Given the description of an element on the screen output the (x, y) to click on. 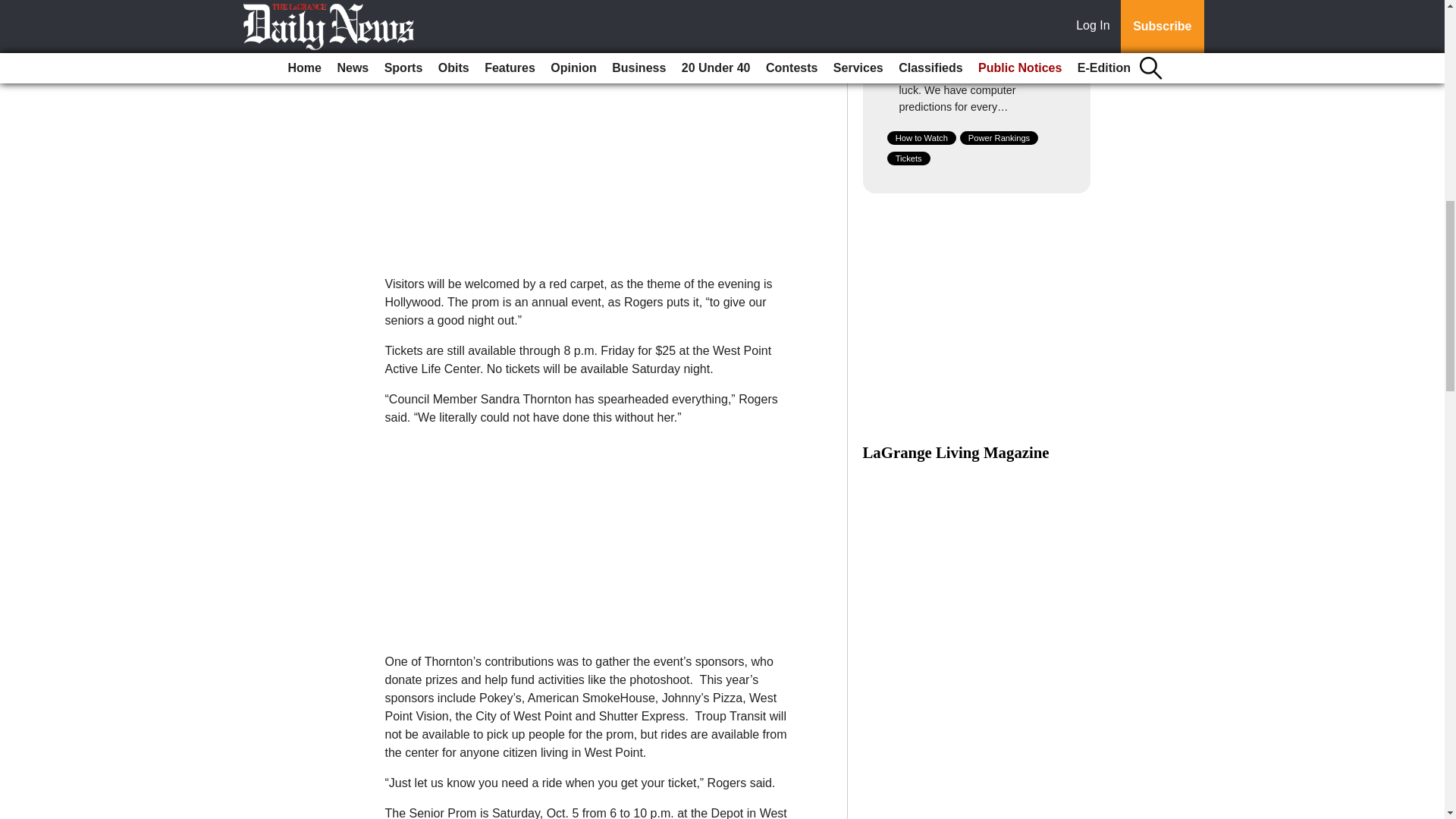
Tickets (908, 158)
WNBA Betting Picks: Sunday, September 1 (978, 30)
Power Rankings (999, 137)
How to Watch (921, 137)
